Given the description of an element on the screen output the (x, y) to click on. 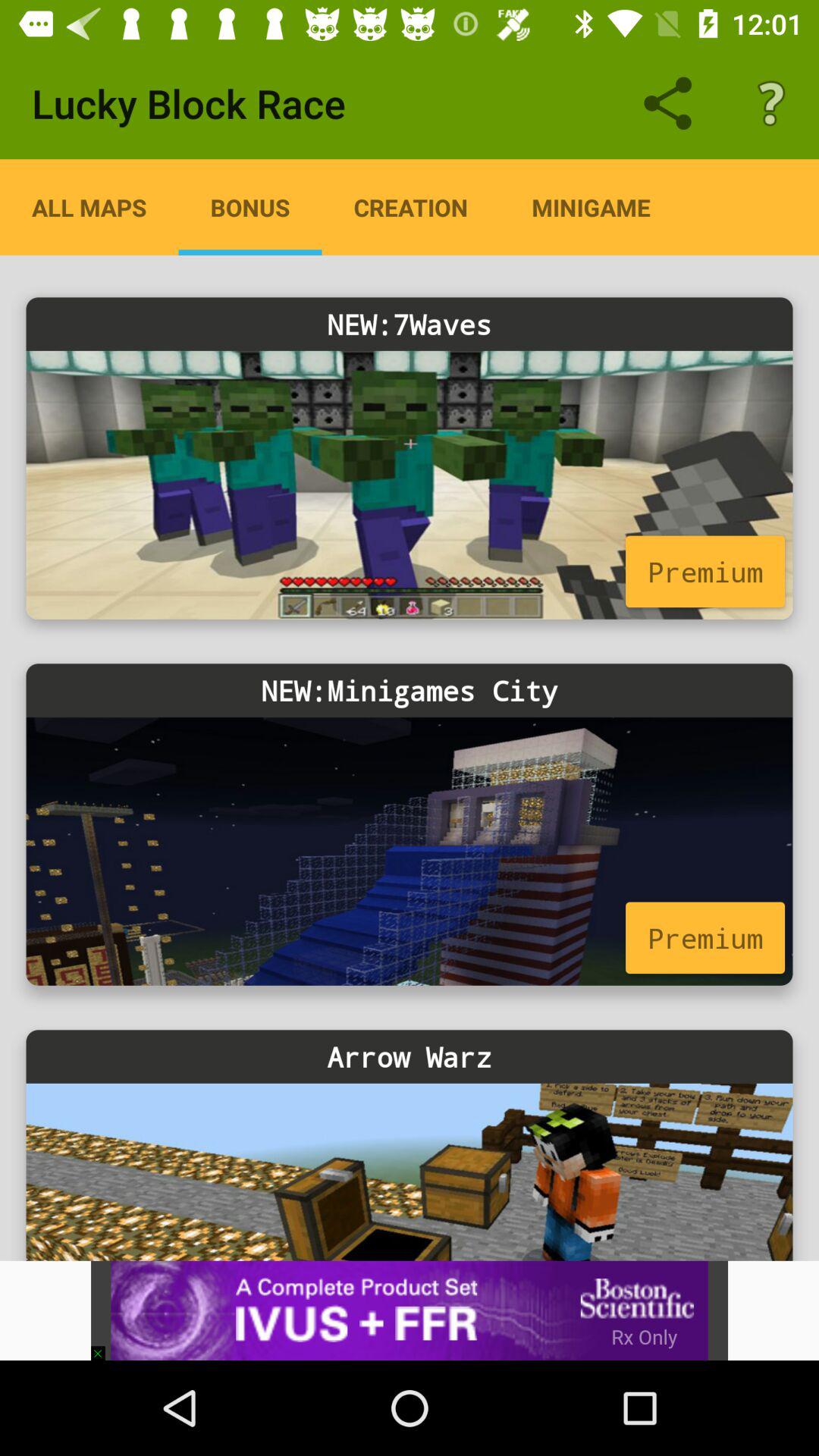
open item above new:7waves item (89, 207)
